Given the description of an element on the screen output the (x, y) to click on. 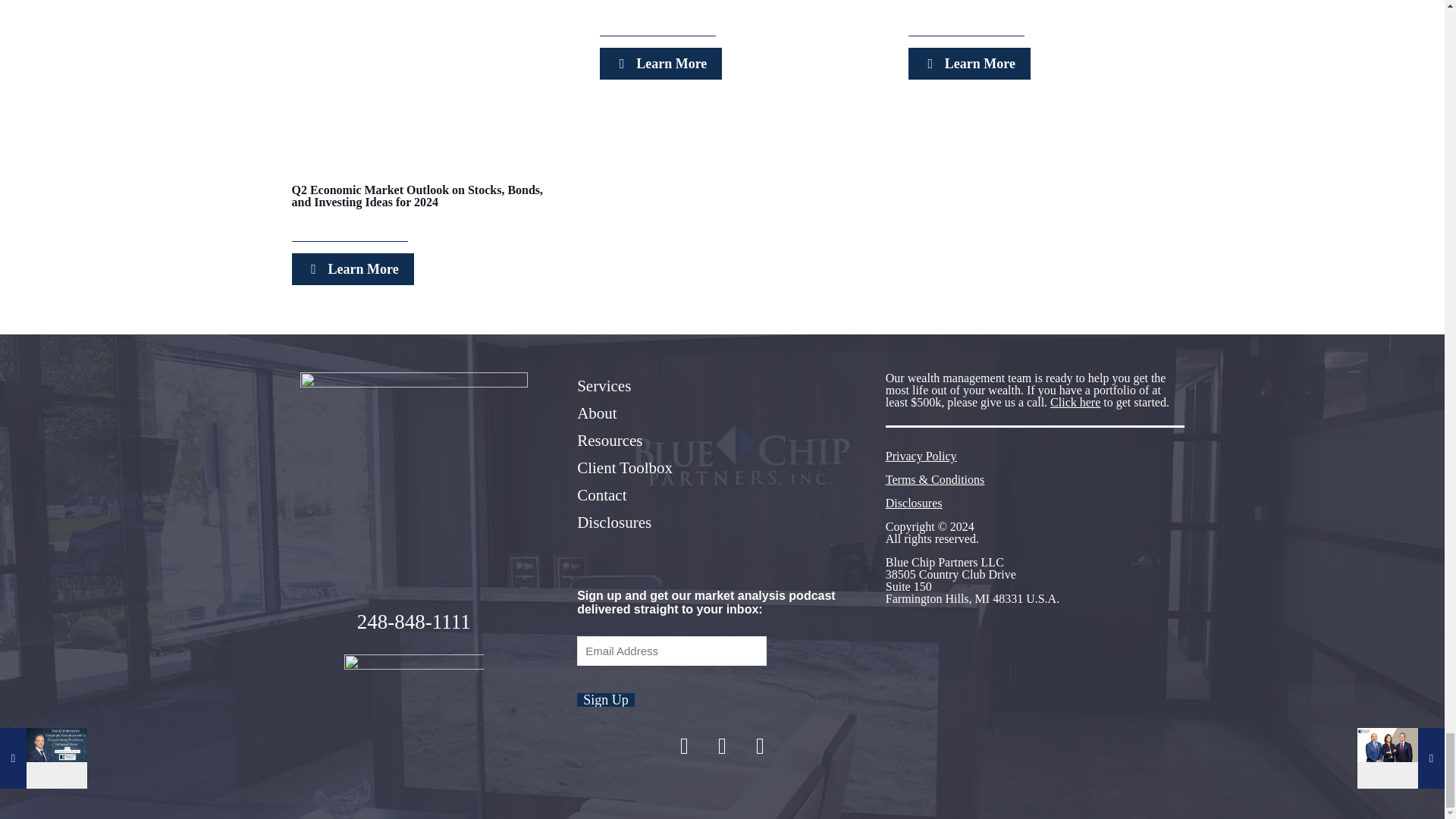
link to terms and conditions (934, 479)
link to disclosures (913, 502)
link to privacy policy (920, 455)
Sign Up (605, 699)
Click here (1074, 401)
